Given the description of an element on the screen output the (x, y) to click on. 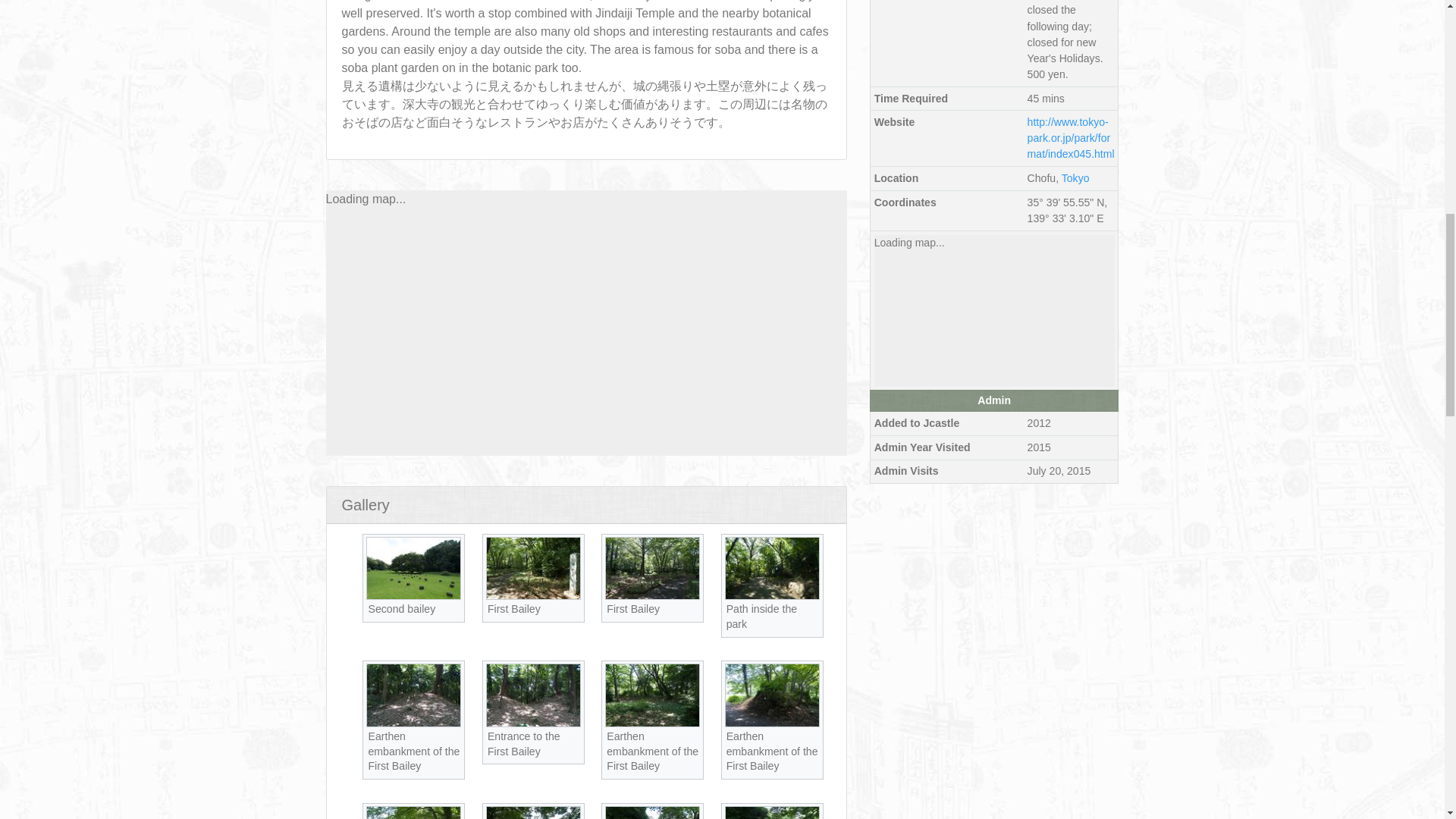
Enlarge (692, 733)
Enlarge (573, 733)
Enlarge (573, 605)
Enlarge (454, 733)
Enlarge (692, 605)
Enlarge (812, 605)
Enlarge (454, 605)
